Given the description of an element on the screen output the (x, y) to click on. 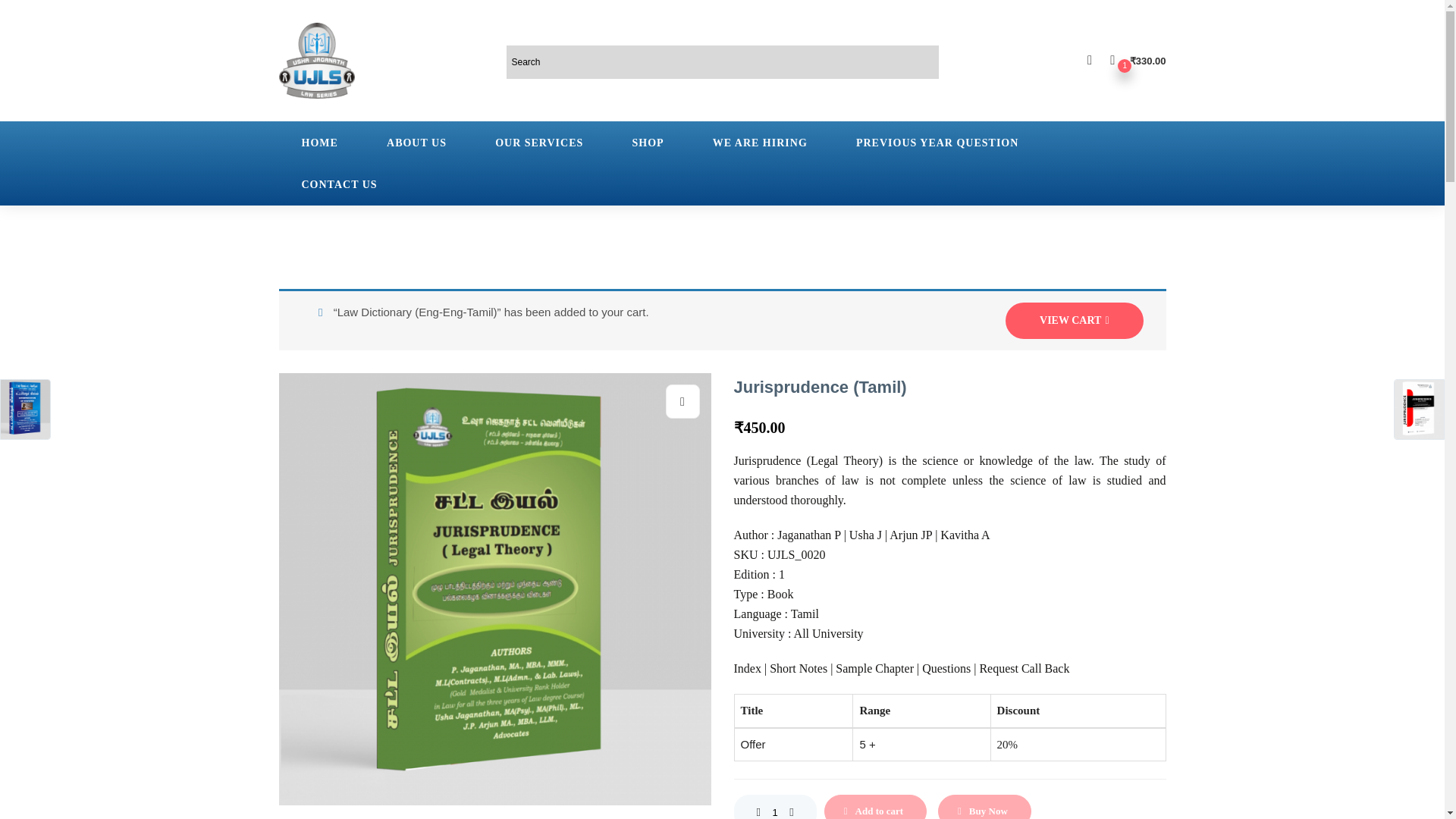
Qty (774, 807)
1 (774, 807)
View your shopping cart (1137, 60)
